Given the description of an element on the screen output the (x, y) to click on. 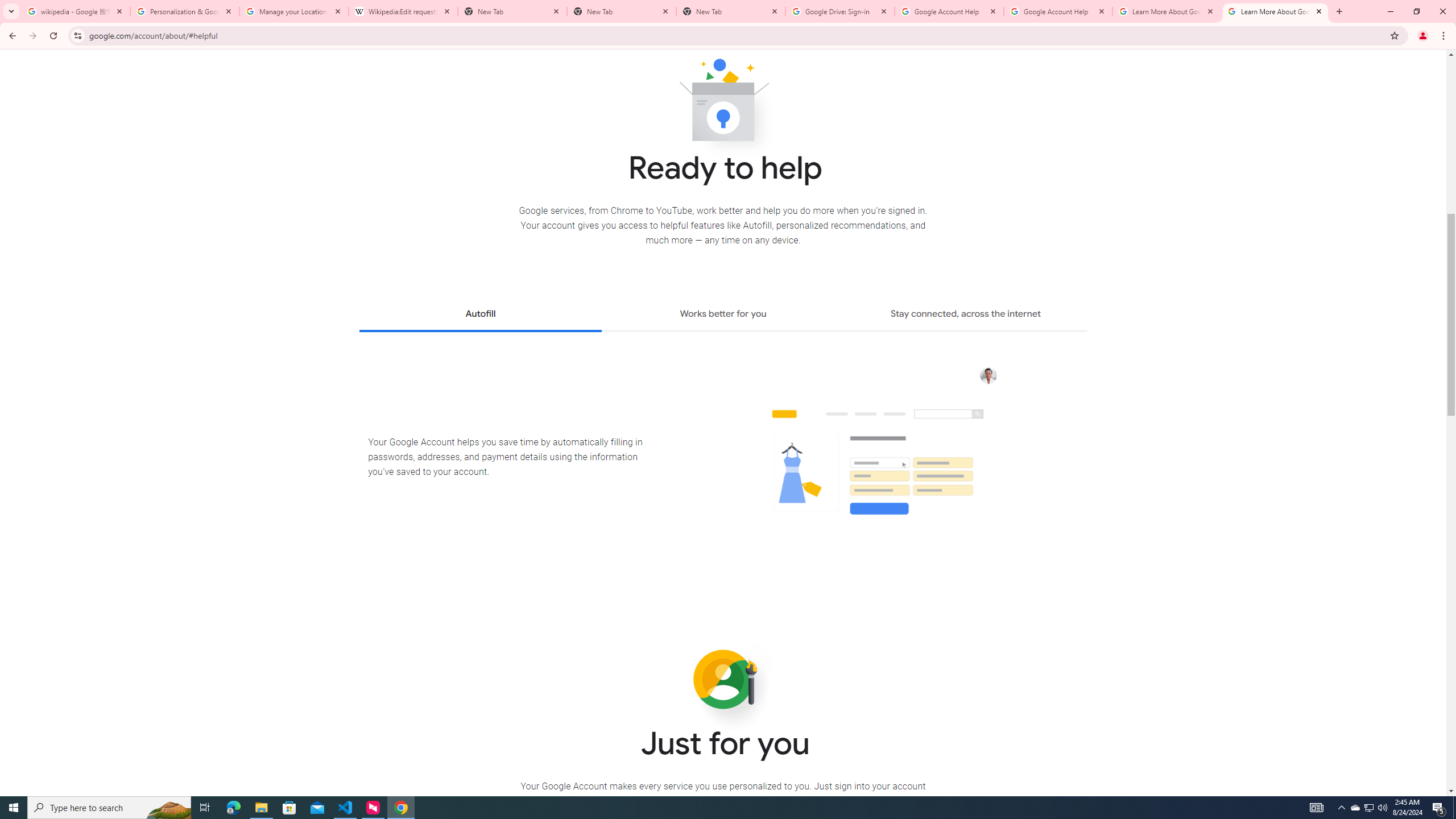
Just for you (722, 679)
Stay connected, across the internet (965, 315)
Works better for you (722, 315)
Google Drive: Sign-in (839, 11)
Autofill (480, 315)
Manage your Location History - Google Search Help (293, 11)
